Given the description of an element on the screen output the (x, y) to click on. 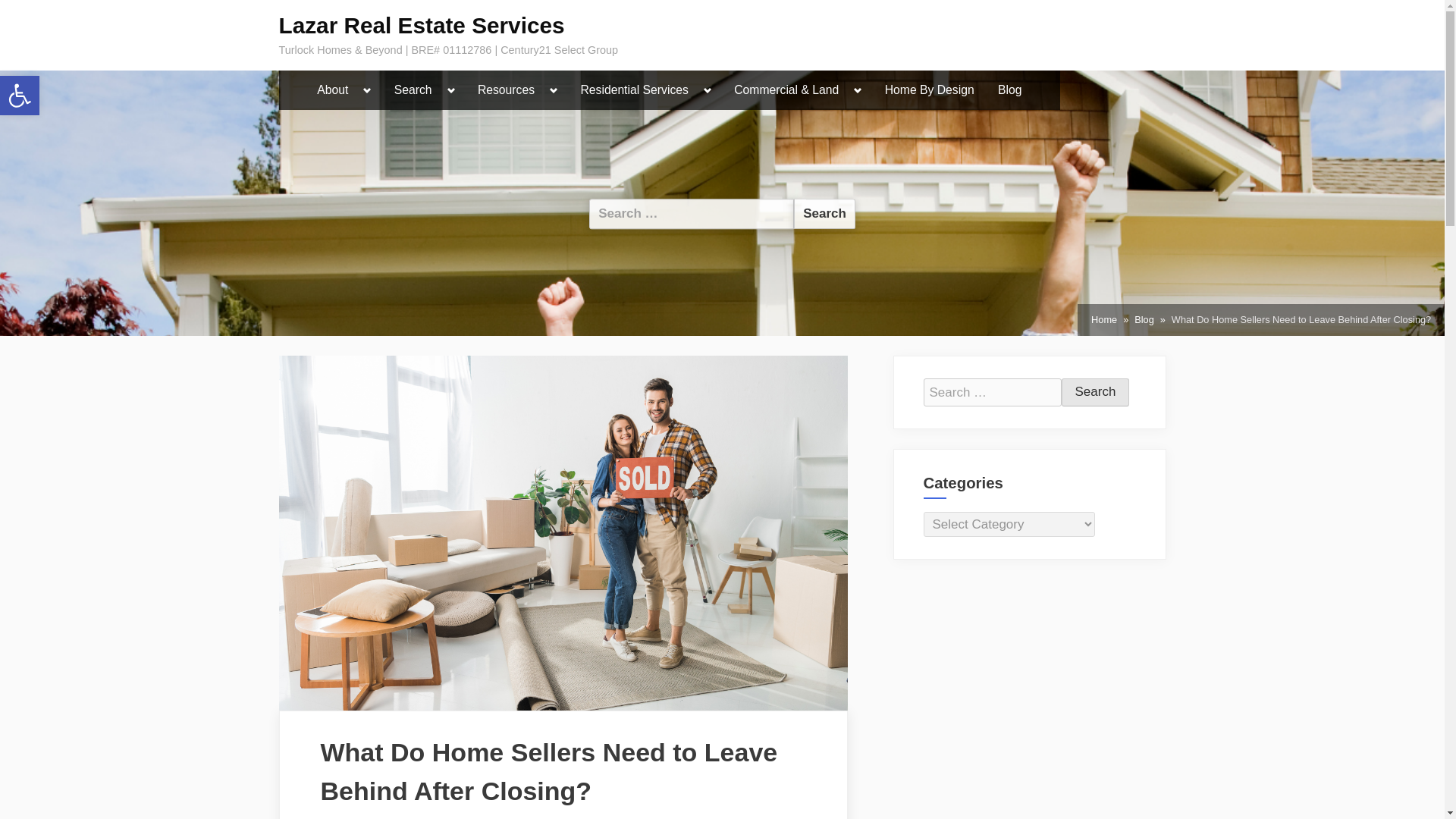
Toggle sub-menu (450, 90)
Toggle sub-menu (858, 90)
Toggle sub-menu (553, 90)
Toggle sub-menu (708, 90)
Search (824, 214)
About (332, 90)
Toggle sub-menu (367, 90)
Resources (505, 90)
Accessibility Tools (19, 95)
Lazar Real Estate Services (19, 95)
Search (421, 25)
Search (1095, 392)
Accessibility Tools (824, 214)
Residential Services (19, 95)
